Given the description of an element on the screen output the (x, y) to click on. 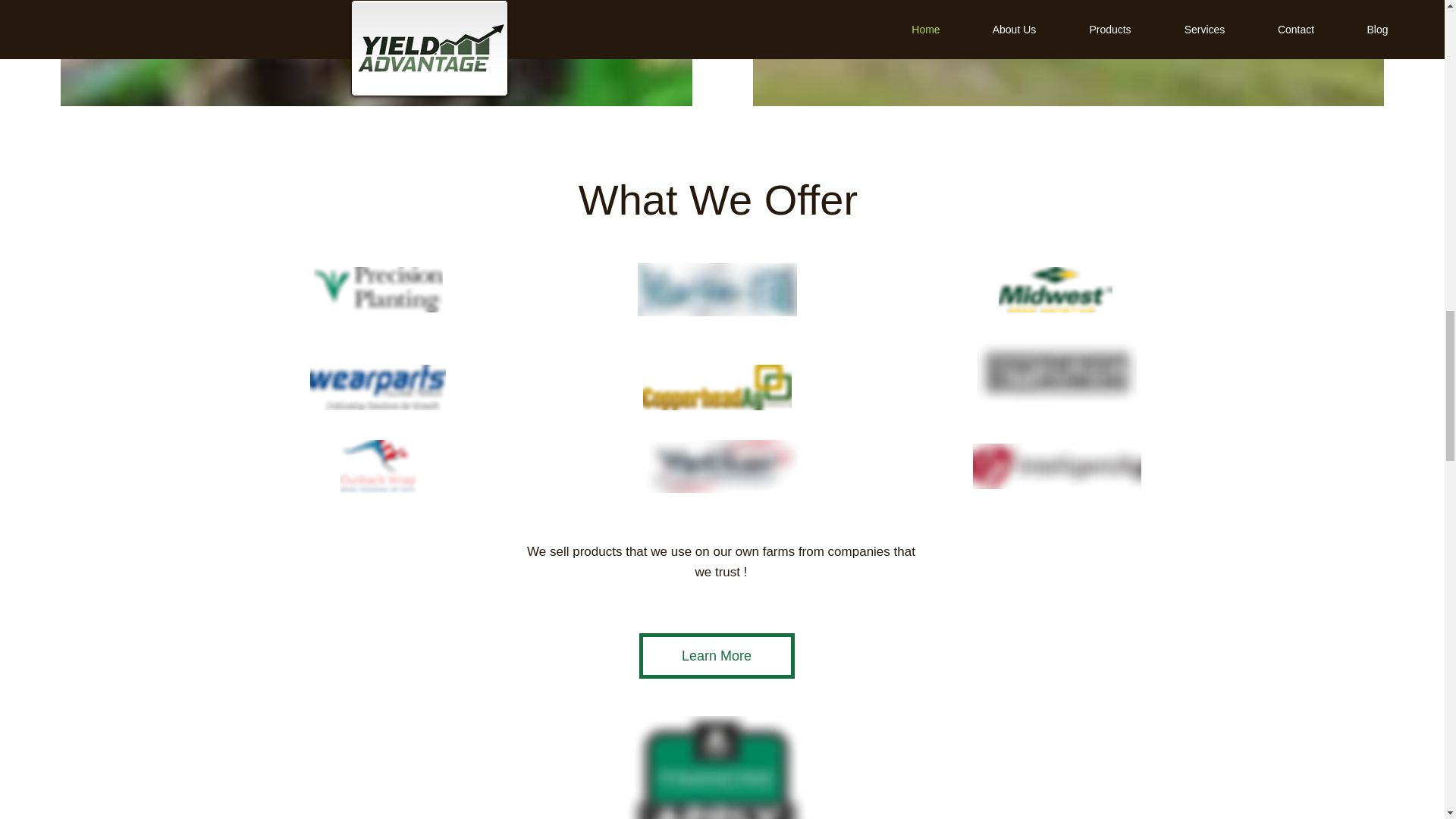
Learn More (716, 655)
